Given the description of an element on the screen output the (x, y) to click on. 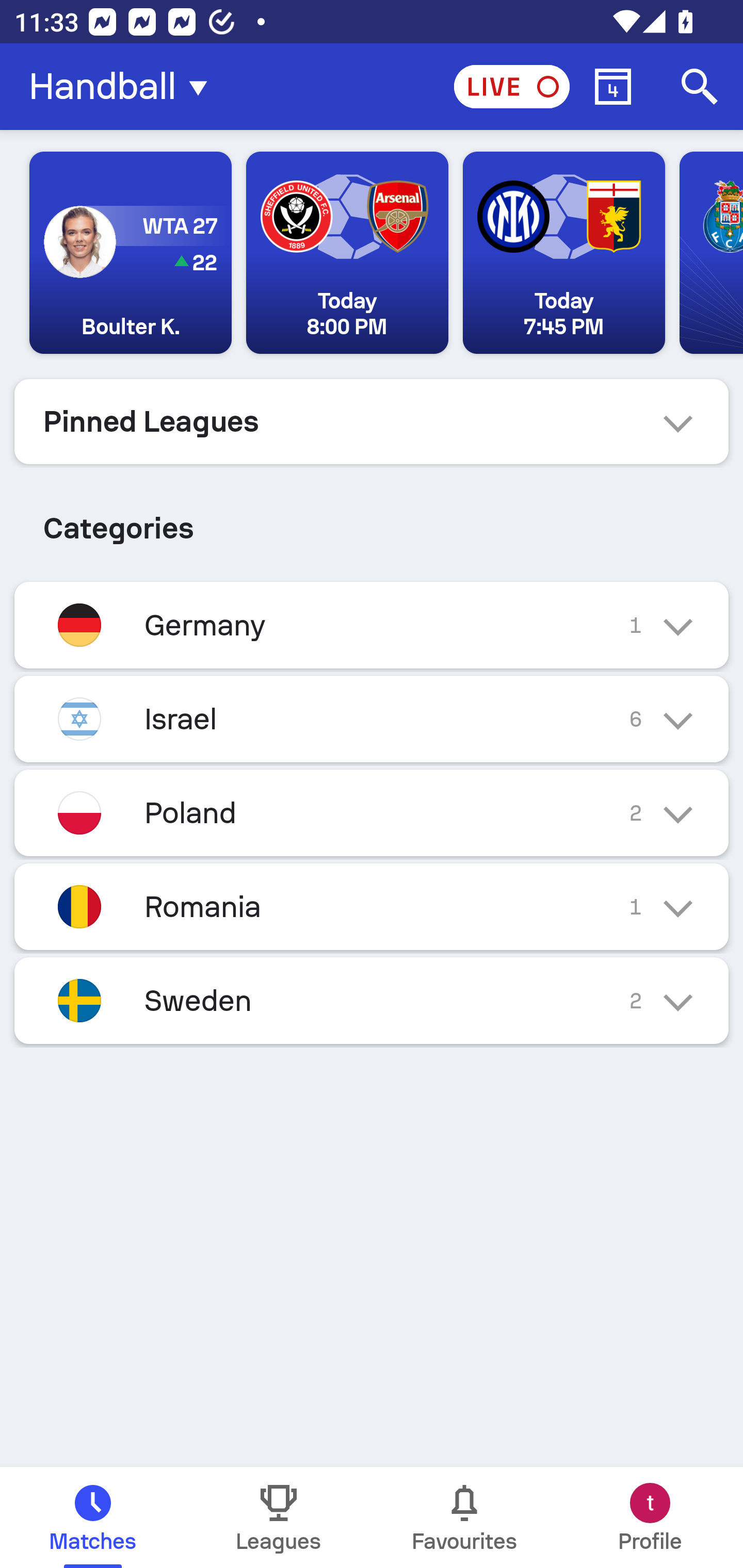
Handball (124, 86)
Calendar (612, 86)
Search (699, 86)
WTA 27 22 Boulter K. (130, 253)
Today
8:00 PM (346, 253)
Today
7:45 PM (563, 253)
Pinned Leagues (371, 421)
Categories (371, 520)
Germany 1 (371, 624)
Israel 6 (371, 718)
Poland 2 (371, 812)
Romania 1 (371, 906)
Sweden 2 (371, 1001)
Leagues (278, 1517)
Favourites (464, 1517)
Profile (650, 1517)
